Given the description of an element on the screen output the (x, y) to click on. 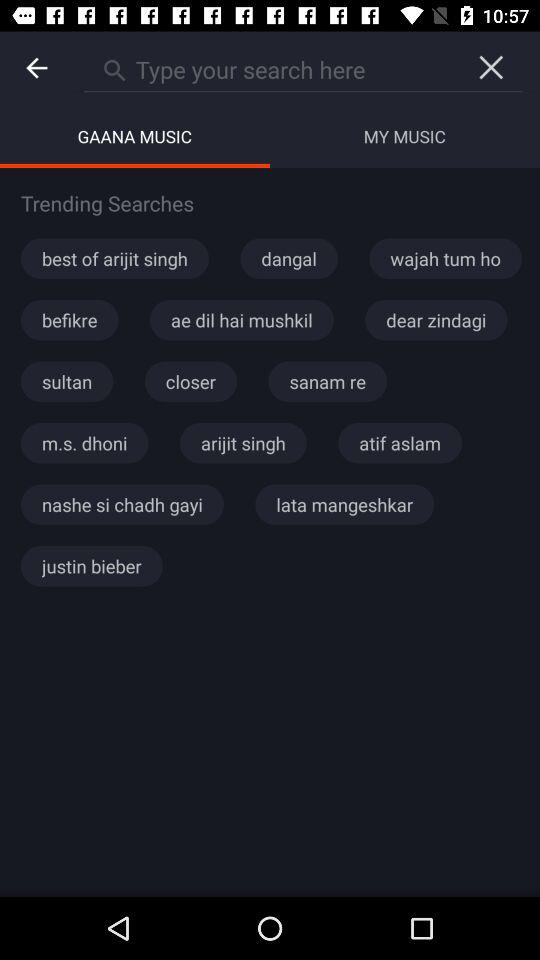
tap the icon below best of arijit (241, 320)
